Given the description of an element on the screen output the (x, y) to click on. 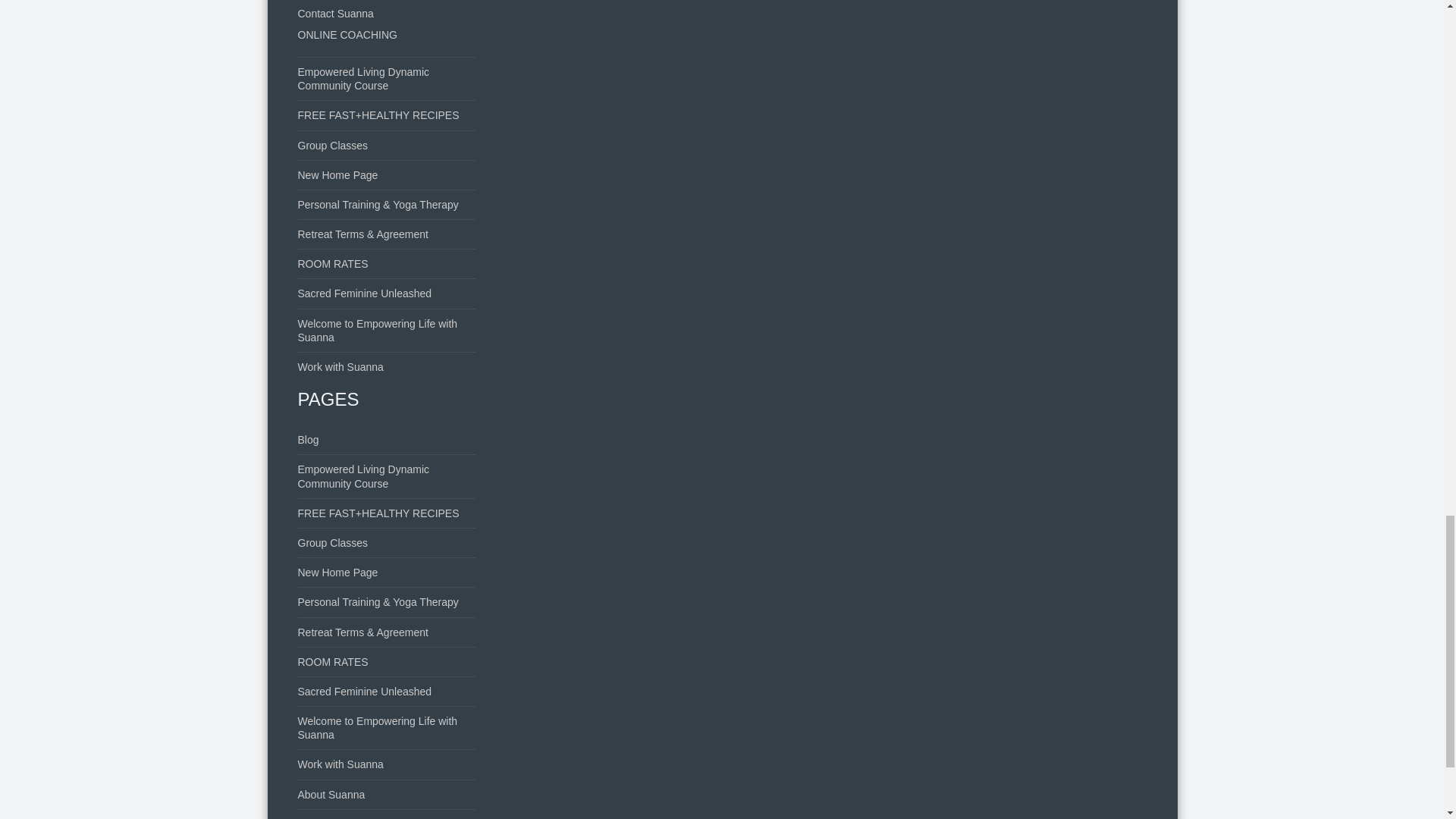
Empowered Living Dynamic Community Course (363, 475)
Contact Suanna (334, 13)
ROOM RATES (332, 263)
New Home Page (337, 572)
Welcome to Empowering Life with Suanna (377, 330)
Work with Suanna (339, 367)
Blog (307, 439)
Group Classes (332, 145)
Sacred Feminine Unleashed (363, 293)
Group Classes (332, 542)
